Given the description of an element on the screen output the (x, y) to click on. 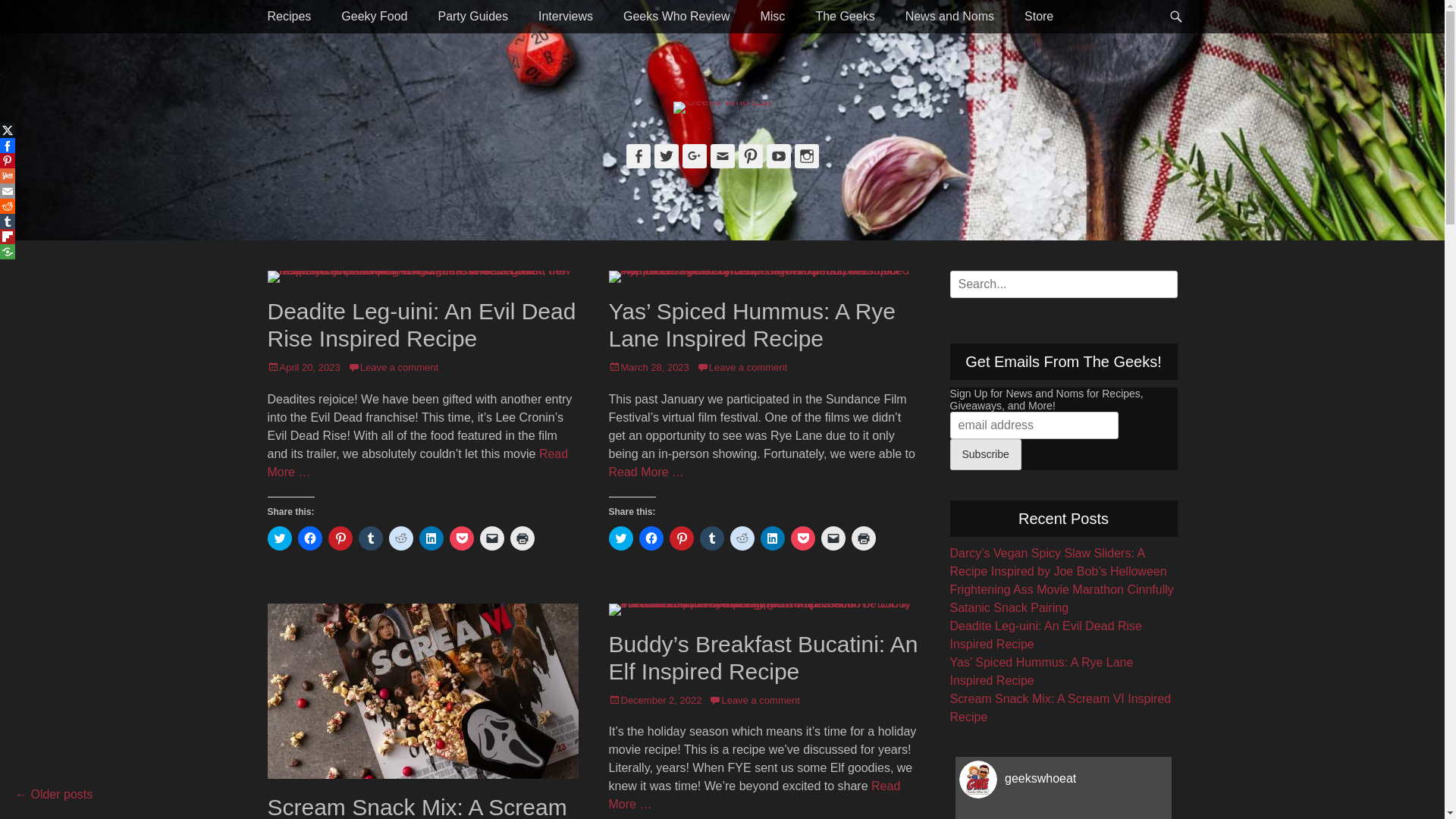
Facebook Element type: text (638, 156)
Click to email a link to a friend (Opens in new window) Element type: text (832, 538)
Subscribe Element type: text (984, 454)
Email This Element type: hover (7, 190)
Misc Element type: text (772, 16)
Click to share on Pocket (Opens in new window) Element type: text (802, 538)
geekswhoeat Element type: text (1063, 779)
March 28, 2023 Element type: text (648, 367)
Email Element type: text (721, 156)
Instagram Element type: text (806, 156)
Click to share on Pinterest (Opens in new window) Element type: text (680, 538)
Leave a comment Element type: text (741, 367)
Deadite Leg-uini: An Evil Dead Rise Inspired Recipe Element type: text (1045, 634)
Click to share on Facebook (Opens in new window) Element type: text (650, 538)
Reddit Element type: hover (7, 205)
Leave a comment Element type: text (754, 700)
X (Twitter) Element type: hover (7, 130)
Click to share on Facebook (Opens in new window) Element type: text (309, 538)
The Geeks Element type: text (844, 16)
Recipes Element type: text (288, 16)
Tumblr Element type: hover (7, 221)
Click to share on LinkedIn (Opens in new window) Element type: text (430, 538)
Geeky Food Element type: text (374, 16)
Googleplus Element type: text (694, 156)
Click to share on Tumblr (Opens in new window) Element type: text (369, 538)
Search Element type: text (31, 16)
Pinterest Element type: hover (7, 160)
Click to share on Twitter (Opens in new window) Element type: text (278, 538)
December 2, 2022 Element type: text (654, 700)
More Options Element type: hover (7, 251)
Geeks Who Review Element type: text (676, 16)
News and Noms Element type: text (949, 16)
Click to share on Pinterest (Opens in new window) Element type: text (339, 538)
Leave a comment Element type: text (393, 367)
Click to share on Reddit (Opens in new window) Element type: text (741, 538)
Flipboard Element type: hover (7, 236)
YouTube Element type: text (777, 156)
Click to share on Pocket (Opens in new window) Element type: text (460, 538)
Yummly Element type: hover (7, 175)
Facebook Element type: hover (7, 145)
Deadite Leg-uini: An Evil Dead Rise Inspired Recipe Element type: text (420, 324)
Search for: Element type: hover (1062, 284)
Click to share on Reddit (Opens in new window) Element type: text (400, 538)
Scream Snack Mix: A Scream VI Inspired Recipe Element type: text (1059, 707)
Party Guides Element type: text (472, 16)
Store Element type: text (1038, 16)
Click to share on Tumblr (Opens in new window) Element type: text (711, 538)
Click to print (Opens in new window) Element type: text (521, 538)
April 20, 2023 Element type: text (302, 367)
Interviews Element type: text (565, 16)
Click to share on Twitter (Opens in new window) Element type: text (620, 538)
Click to share on LinkedIn (Opens in new window) Element type: text (771, 538)
Twitter Element type: text (665, 156)
Click to email a link to a friend (Opens in new window) Element type: text (491, 538)
Pinterest Element type: text (750, 156)
Click to print (Opens in new window) Element type: text (862, 538)
